Given the description of an element on the screen output the (x, y) to click on. 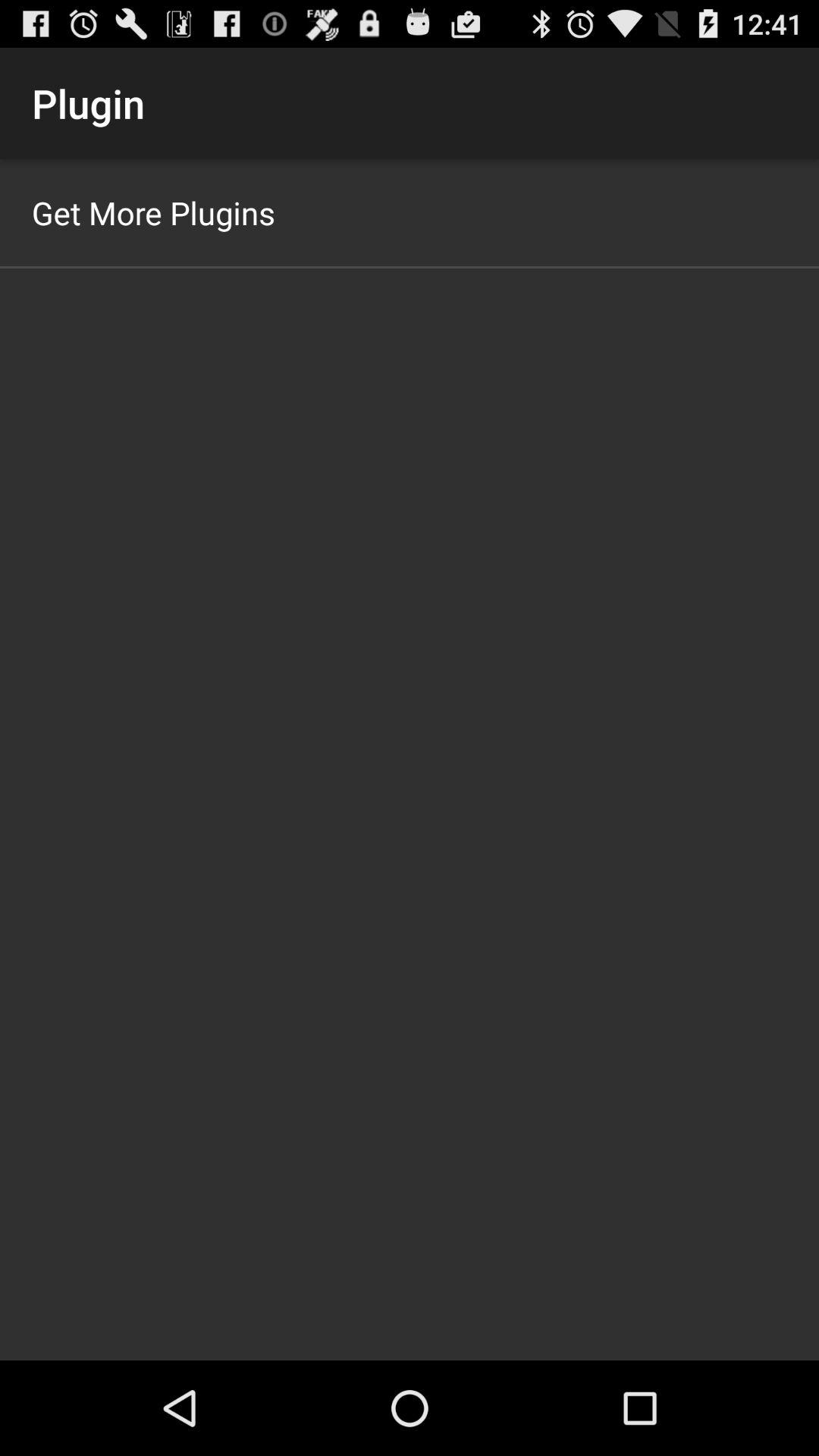
flip until get more plugins app (153, 212)
